Given the description of an element on the screen output the (x, y) to click on. 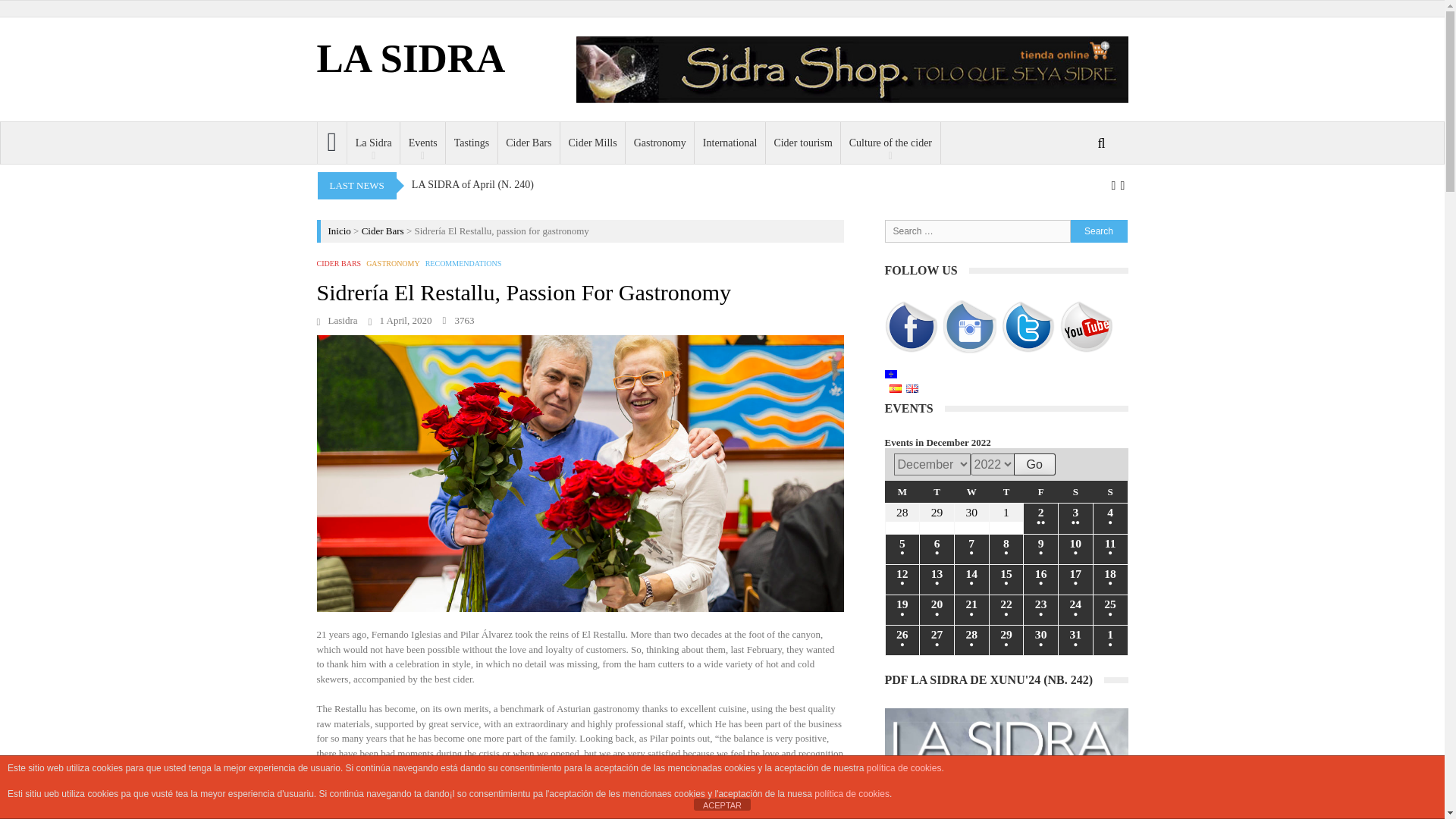
Go (1033, 464)
Tastings (471, 142)
LA SIDRA (411, 58)
Cider Bars (528, 142)
Cider tourism (803, 142)
Gastronomy (660, 142)
Cider Mills (593, 142)
La Sidra (373, 142)
Culture of the cider (890, 142)
International (729, 142)
Search (937, 250)
Search (1098, 231)
Search (1098, 231)
Events (422, 142)
